Given the description of an element on the screen output the (x, y) to click on. 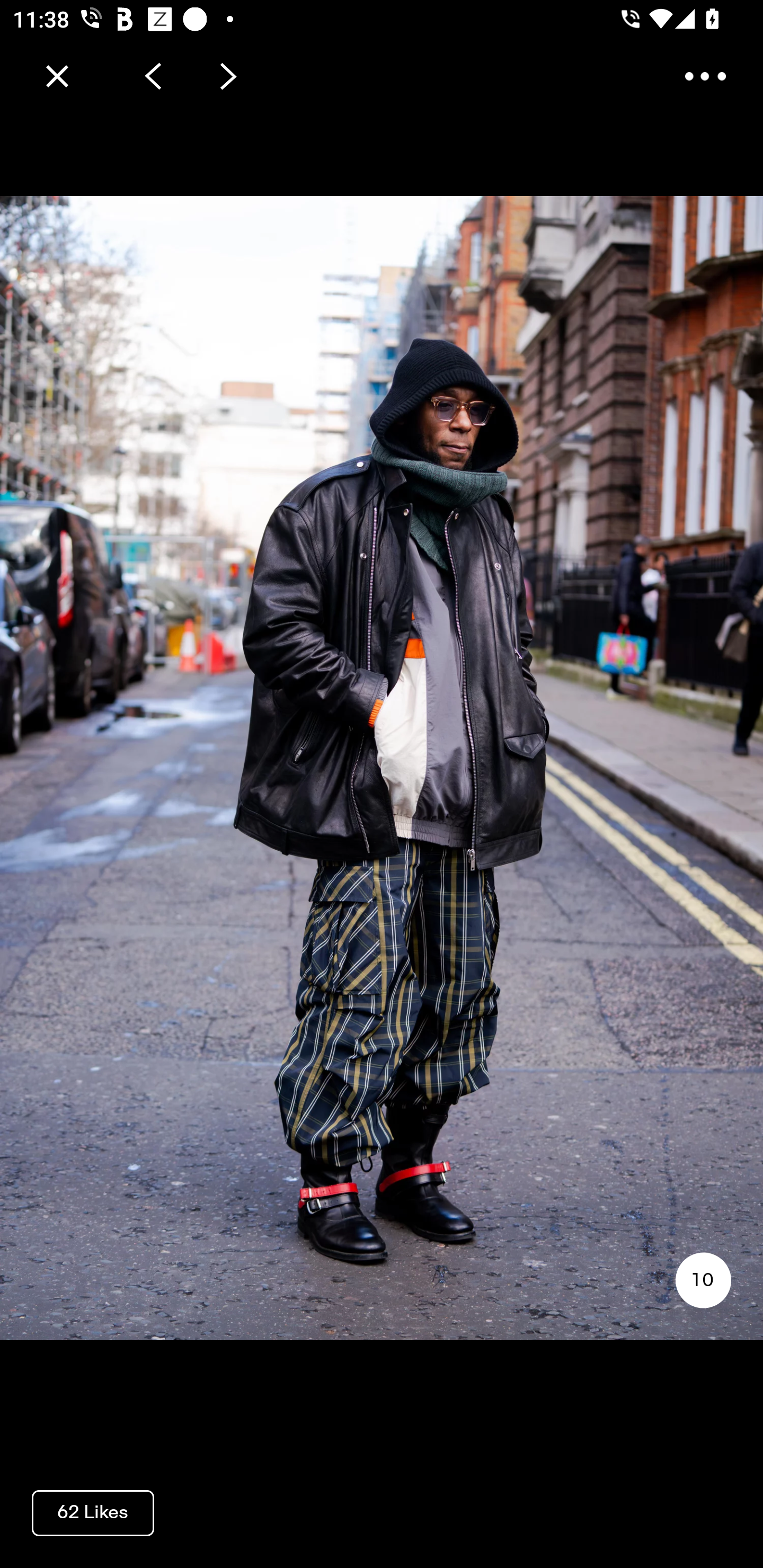
10 (702, 1279)
62 Likes (93, 1512)
